Given the description of an element on the screen output the (x, y) to click on. 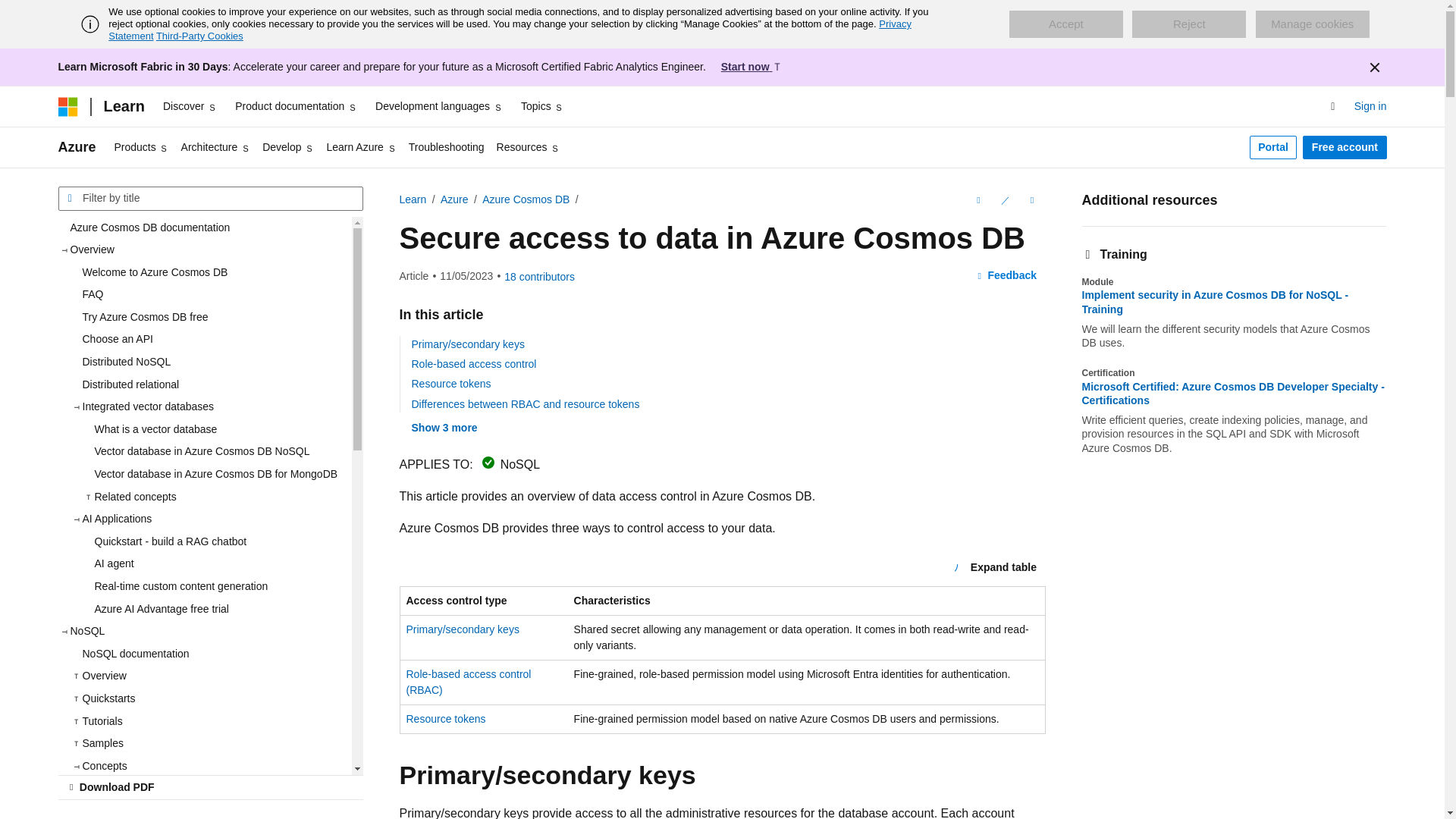
Development languages (438, 106)
Discover (189, 106)
More actions (1031, 200)
Learn (123, 106)
Edit This Document (1004, 200)
Privacy Statement (509, 29)
Dismiss alert (1373, 67)
Skip to main content (11, 11)
Topics (542, 106)
Reject (1189, 23)
Products (140, 147)
Accept (1065, 23)
Start now (751, 66)
Manage cookies (1312, 23)
Azure (77, 147)
